Given the description of an element on the screen output the (x, y) to click on. 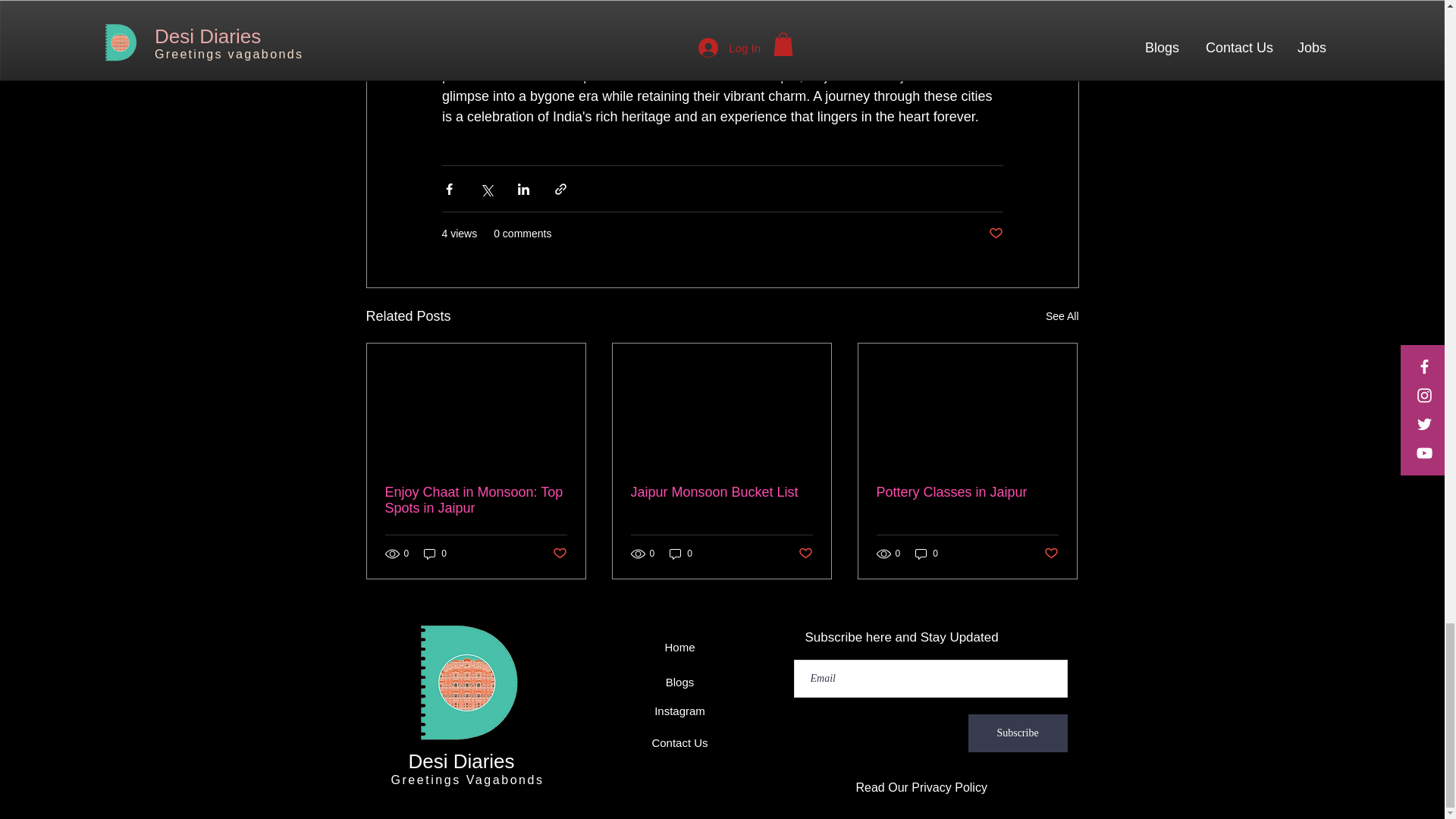
0 (926, 554)
Desi Diaries (460, 761)
0 (681, 554)
Post not marked as liked (804, 553)
0 (435, 554)
Enjoy Chaat in Monsoon: Top Spots in Jaipur (476, 500)
Post not marked as liked (995, 233)
See All (1061, 316)
Jaipur Monsoon Bucket List (721, 492)
Post not marked as liked (1050, 553)
Pottery Classes in Jaipur (967, 492)
Post not marked as liked (558, 553)
